Given the description of an element on the screen output the (x, y) to click on. 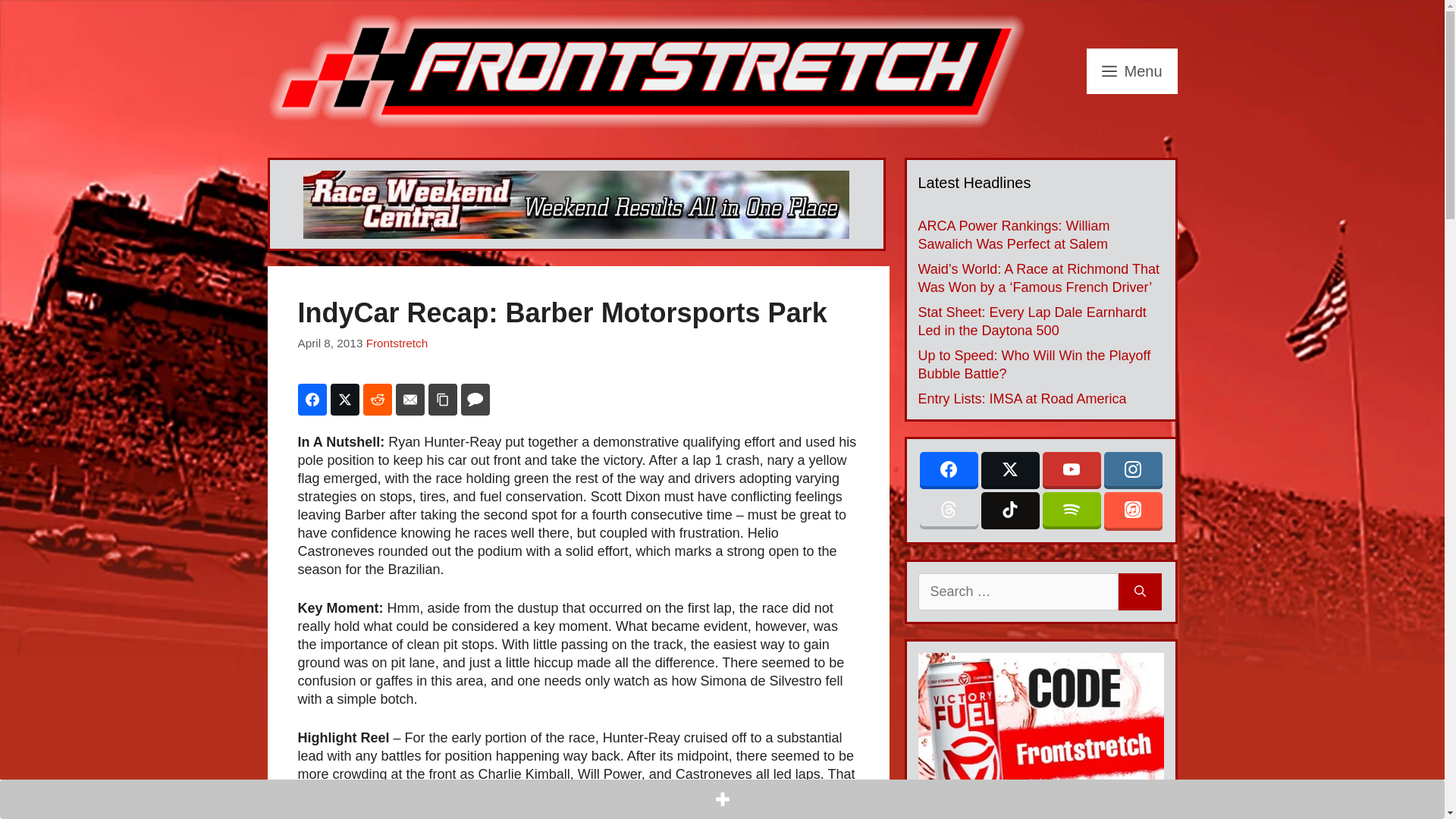
Share on Reddit (376, 399)
Share on Facebook (311, 399)
Entry Lists: IMSA at Road America (1021, 398)
Frontstretch (397, 342)
Share on Copy Link (442, 399)
Menu (1131, 71)
Up to Speed: Who Will Win the Playoff Bubble Battle? (1033, 364)
Share on Twitter (344, 399)
ARCA Power Rankings: William Sawalich Was Perfect at Salem (1013, 234)
Search for: (1017, 591)
Share on Comments (475, 399)
Share on Email (410, 399)
Stat Sheet: Every Lap Dale Earnhardt Led in the Daytona 500 (1031, 321)
